Given the description of an element on the screen output the (x, y) to click on. 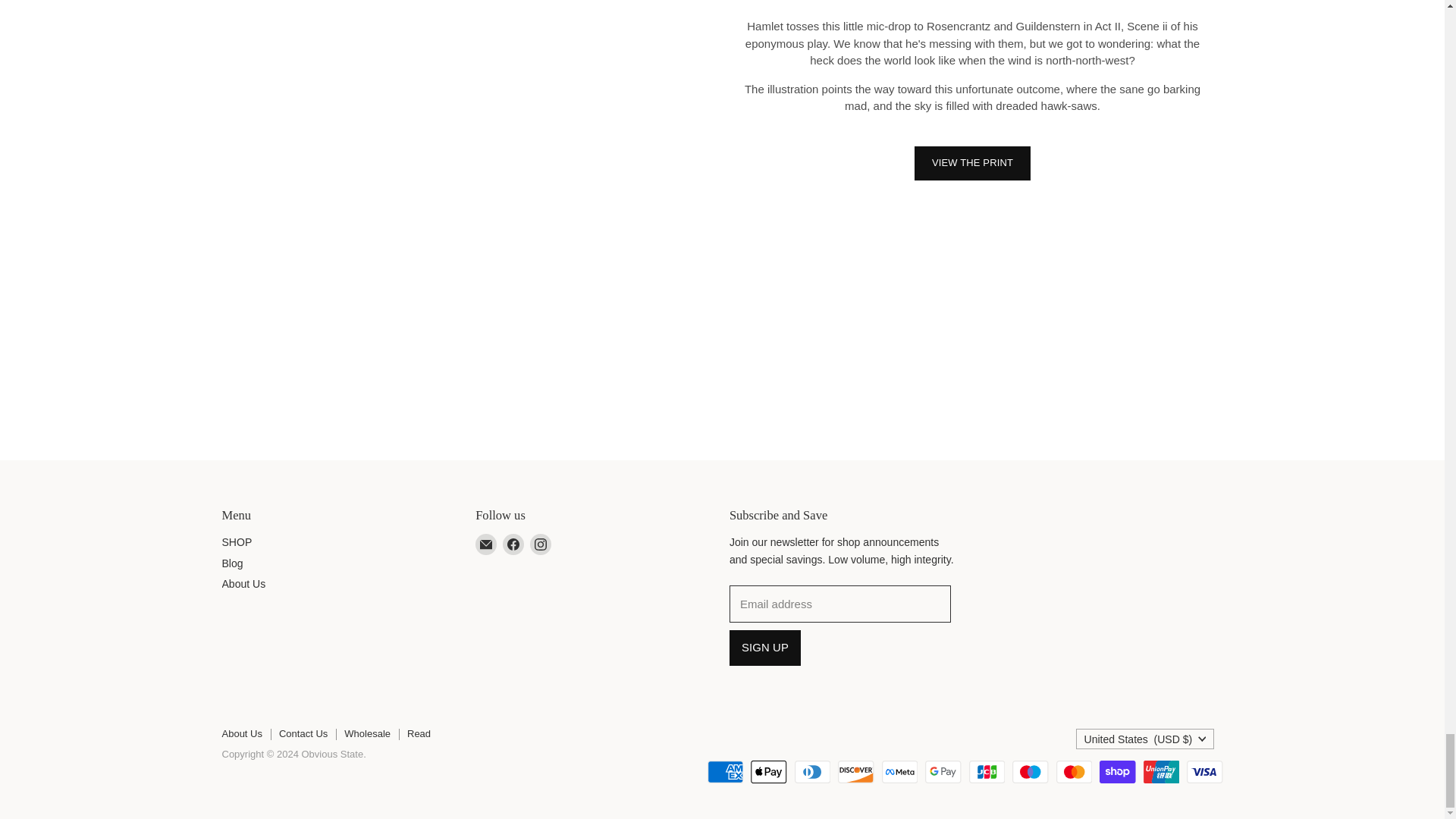
Instagram (540, 543)
Facebook (513, 543)
E-mail (485, 543)
